Given the description of an element on the screen output the (x, y) to click on. 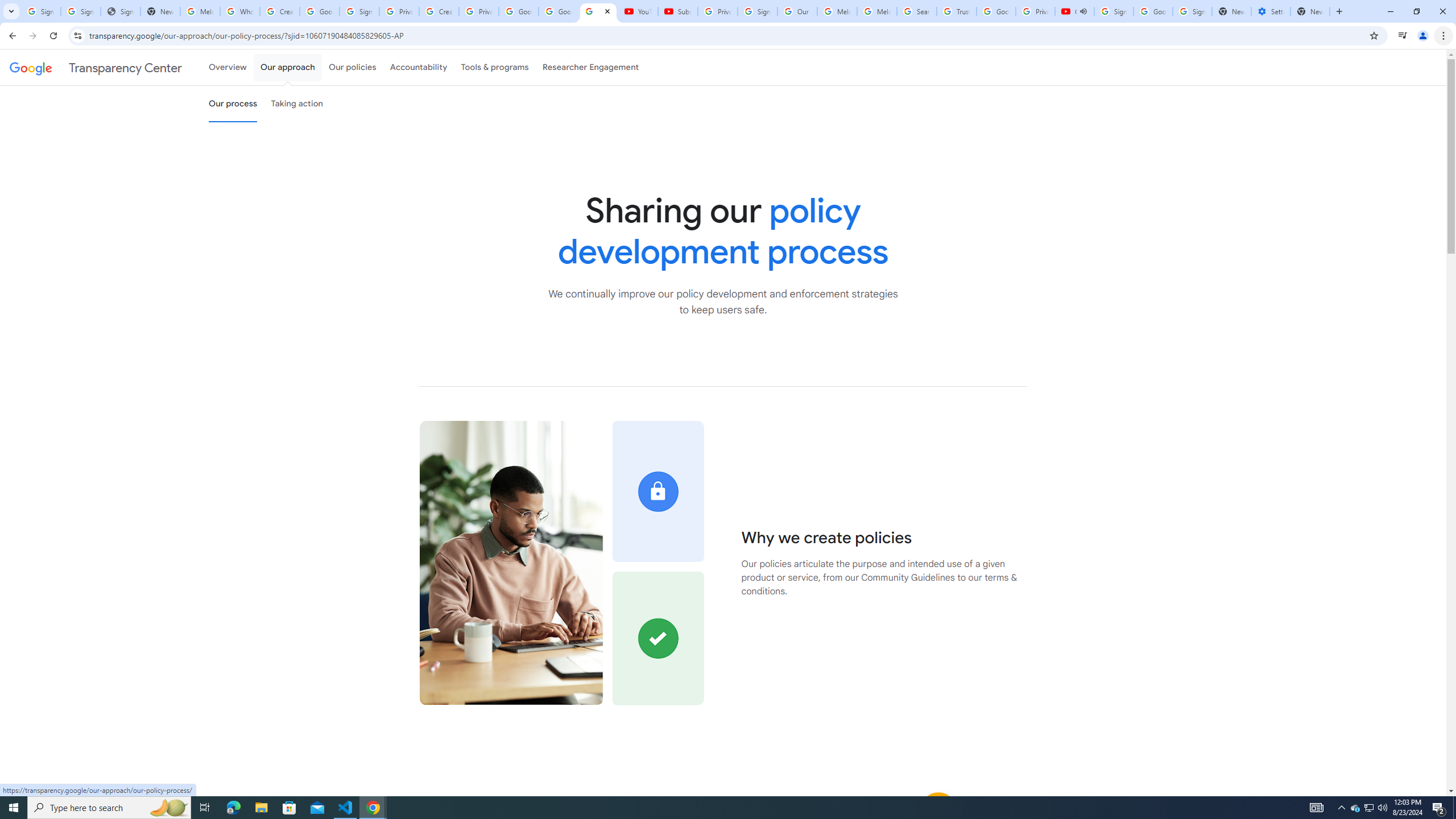
Who is my administrator? - Google Account Help (239, 11)
YouTube (637, 11)
Our policies (351, 67)
Sign in - Google Accounts (80, 11)
Google Ads - Sign in (995, 11)
Settings - Addresses and more (1270, 11)
Transparency Center (95, 67)
